Given the description of an element on the screen output the (x, y) to click on. 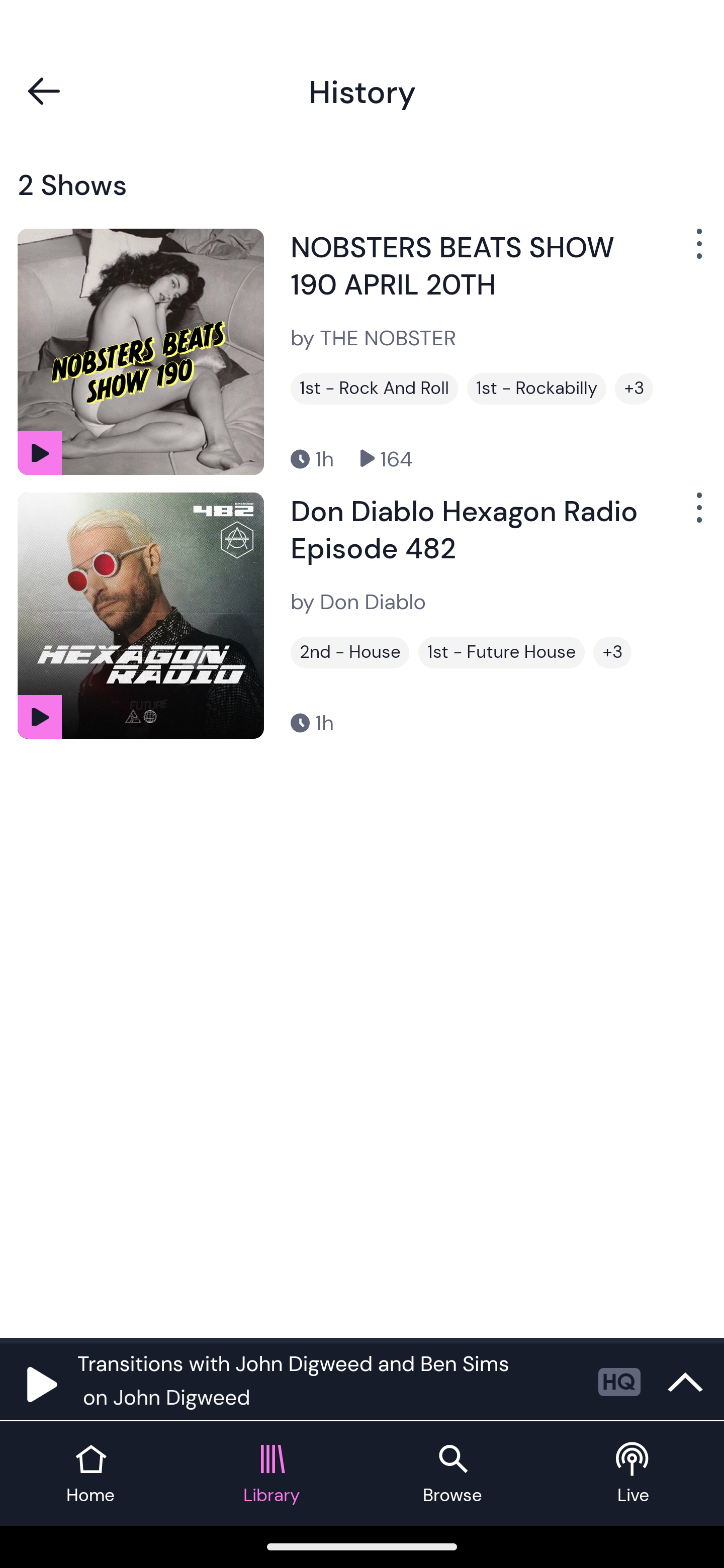
Show Options Menu Button (697, 251)
1st - Rock And Roll (374, 388)
1st - Rockabilly (536, 388)
Show Options Menu Button (697, 514)
2nd - House (349, 651)
1st - Future House (501, 651)
Home tab Home (90, 1473)
Library tab Library (271, 1473)
Browse tab Browse (452, 1473)
Live tab Live (633, 1473)
